Given the description of an element on the screen output the (x, y) to click on. 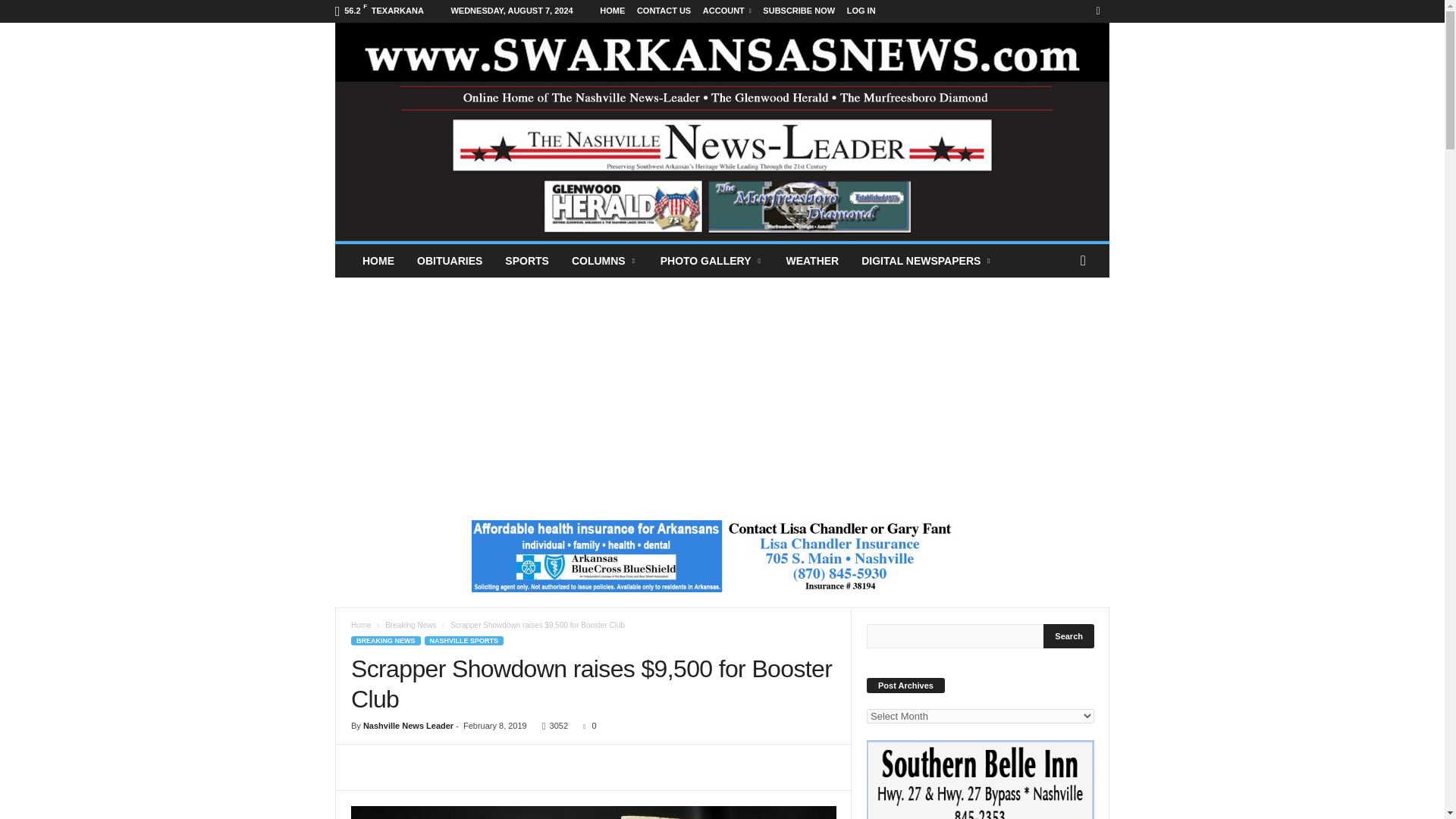
SUBSCRIBE NOW (798, 10)
View all posts in Breaking News (410, 624)
Search (1068, 636)
OBITUARIES (449, 260)
LOG IN (861, 10)
CONTACT US (663, 10)
1WEB (592, 812)
HOME (378, 260)
